Given the description of an element on the screen output the (x, y) to click on. 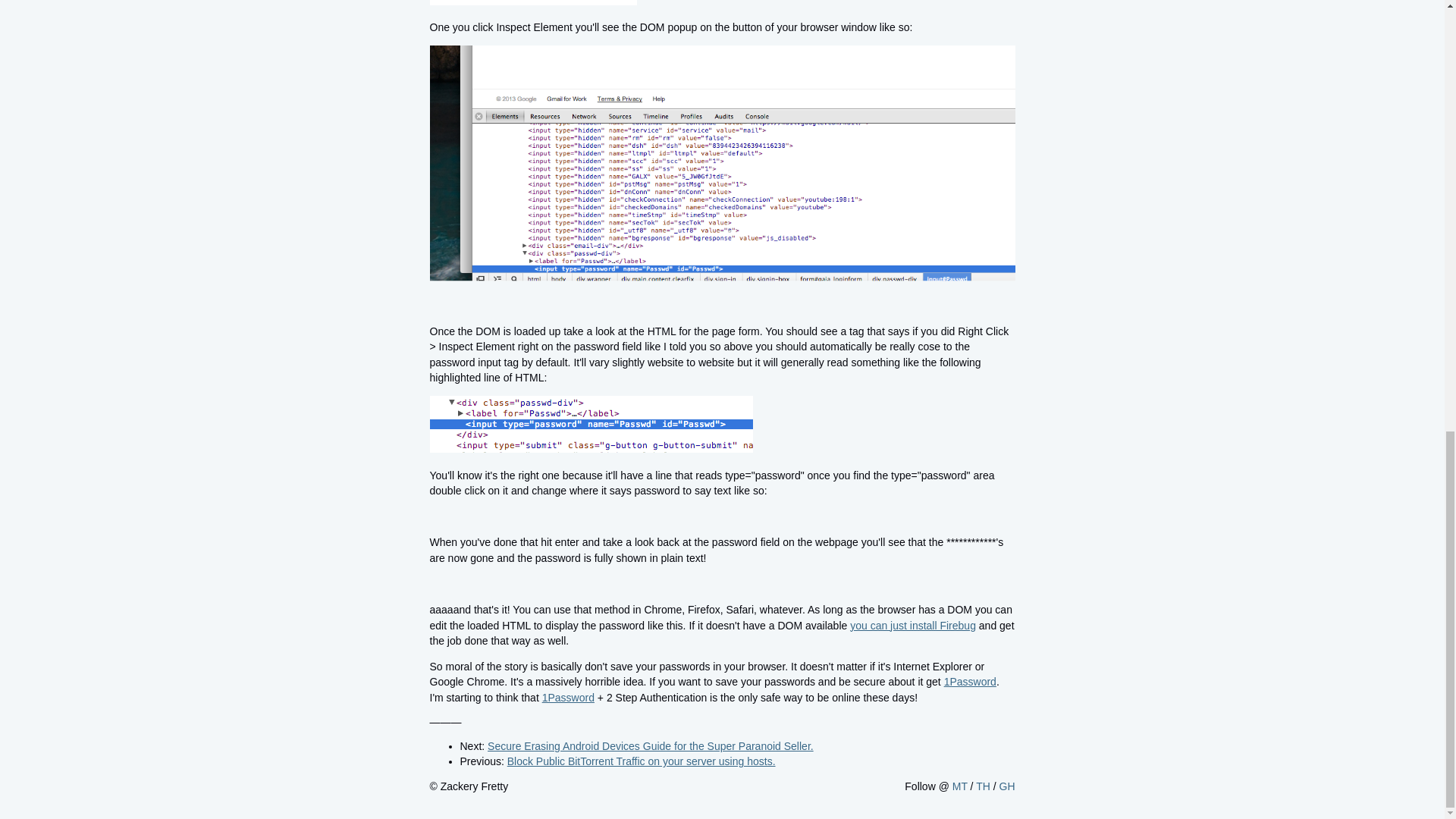
1Password (567, 697)
